Given the description of an element on the screen output the (x, y) to click on. 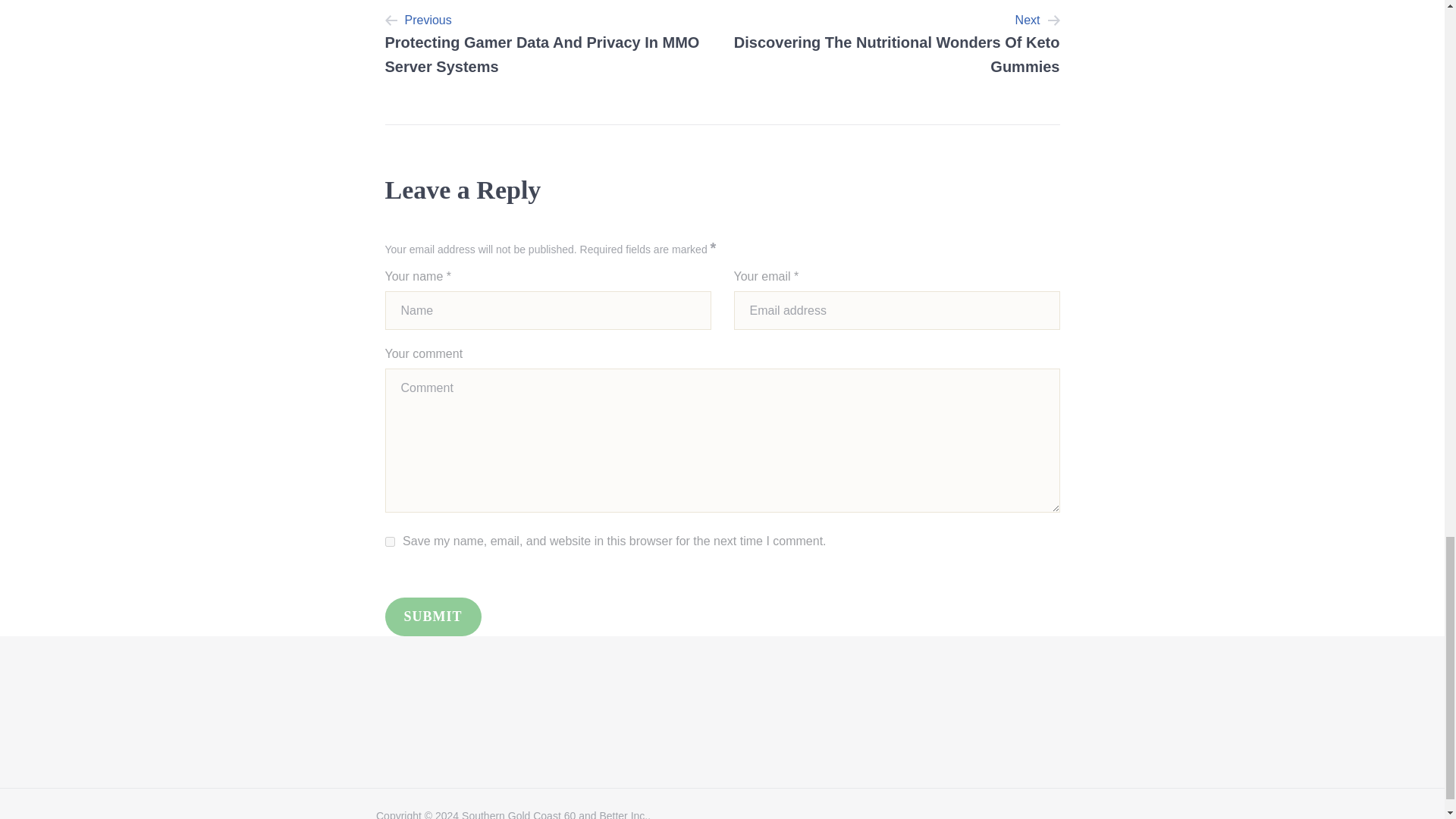
Submit (896, 44)
Submit (433, 616)
yes (433, 616)
